Given the description of an element on the screen output the (x, y) to click on. 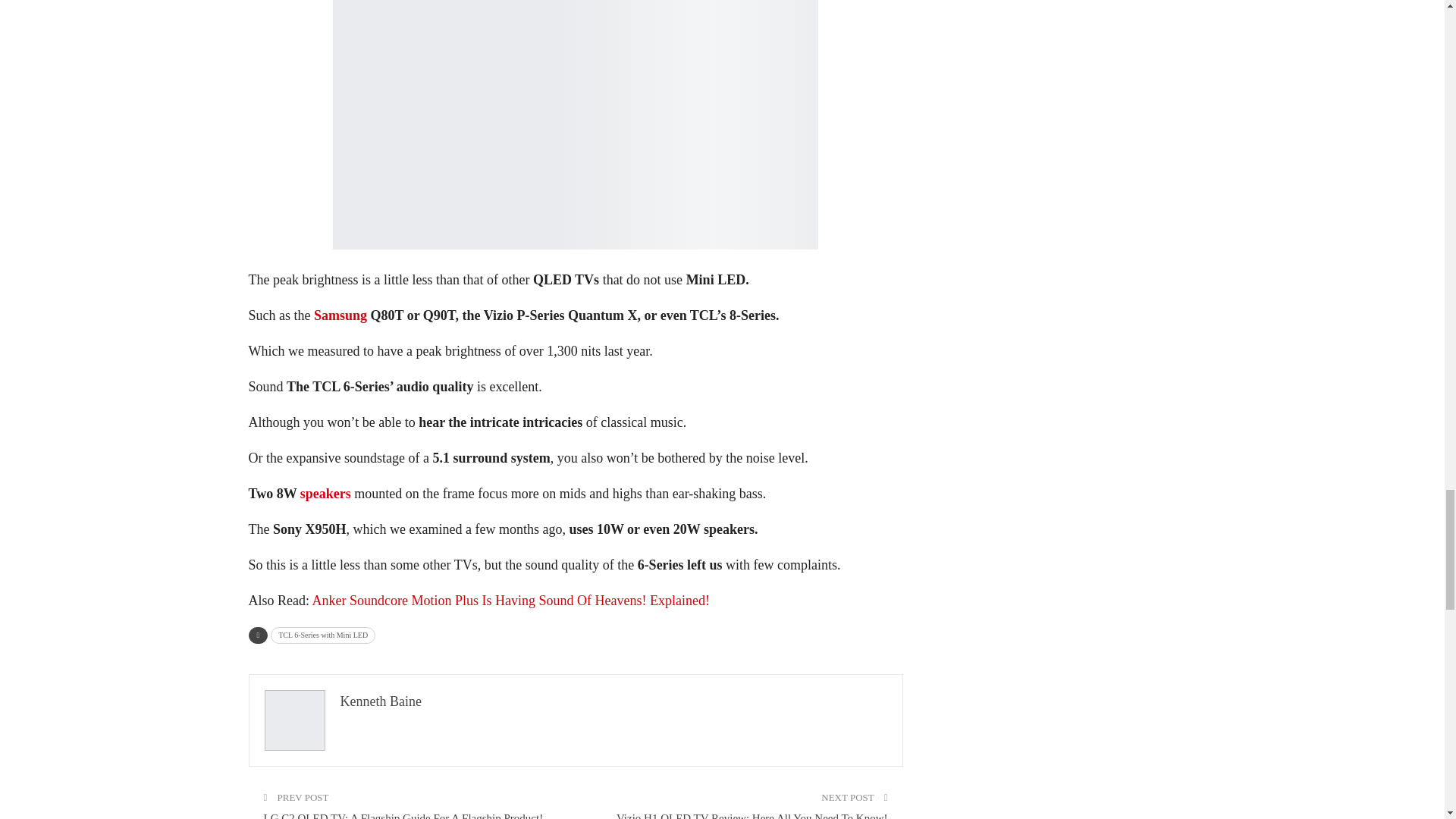
Kenneth Baine (379, 701)
speakers (324, 493)
LG C2 OLED TV: A Flagship Guide For A Flagship Product! (403, 815)
TCL 6-Series with Mini LED (322, 635)
Samsung (340, 314)
Vizio H1 OLED TV Review: Here All You Need To Know! (751, 815)
